Given the description of an element on the screen output the (x, y) to click on. 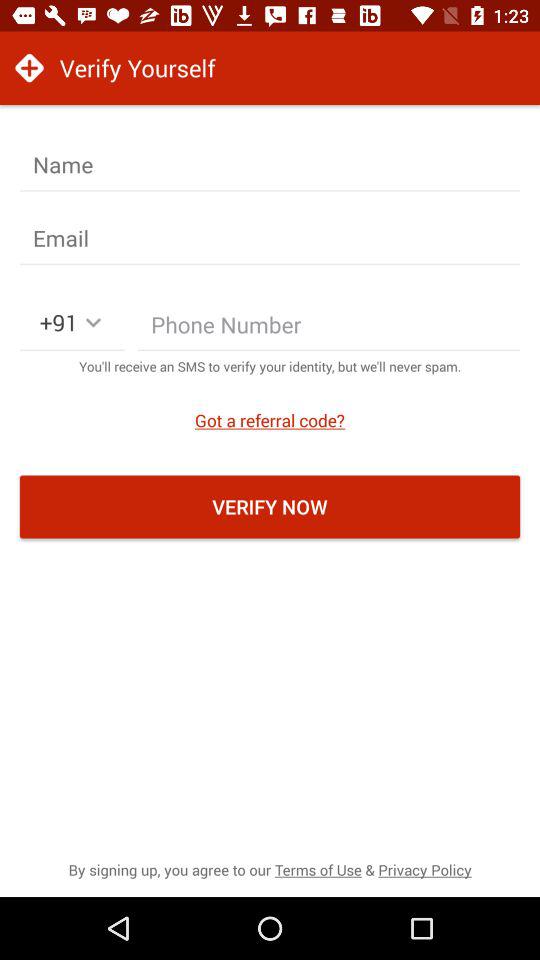
scroll until got a referral item (269, 419)
